Given the description of an element on the screen output the (x, y) to click on. 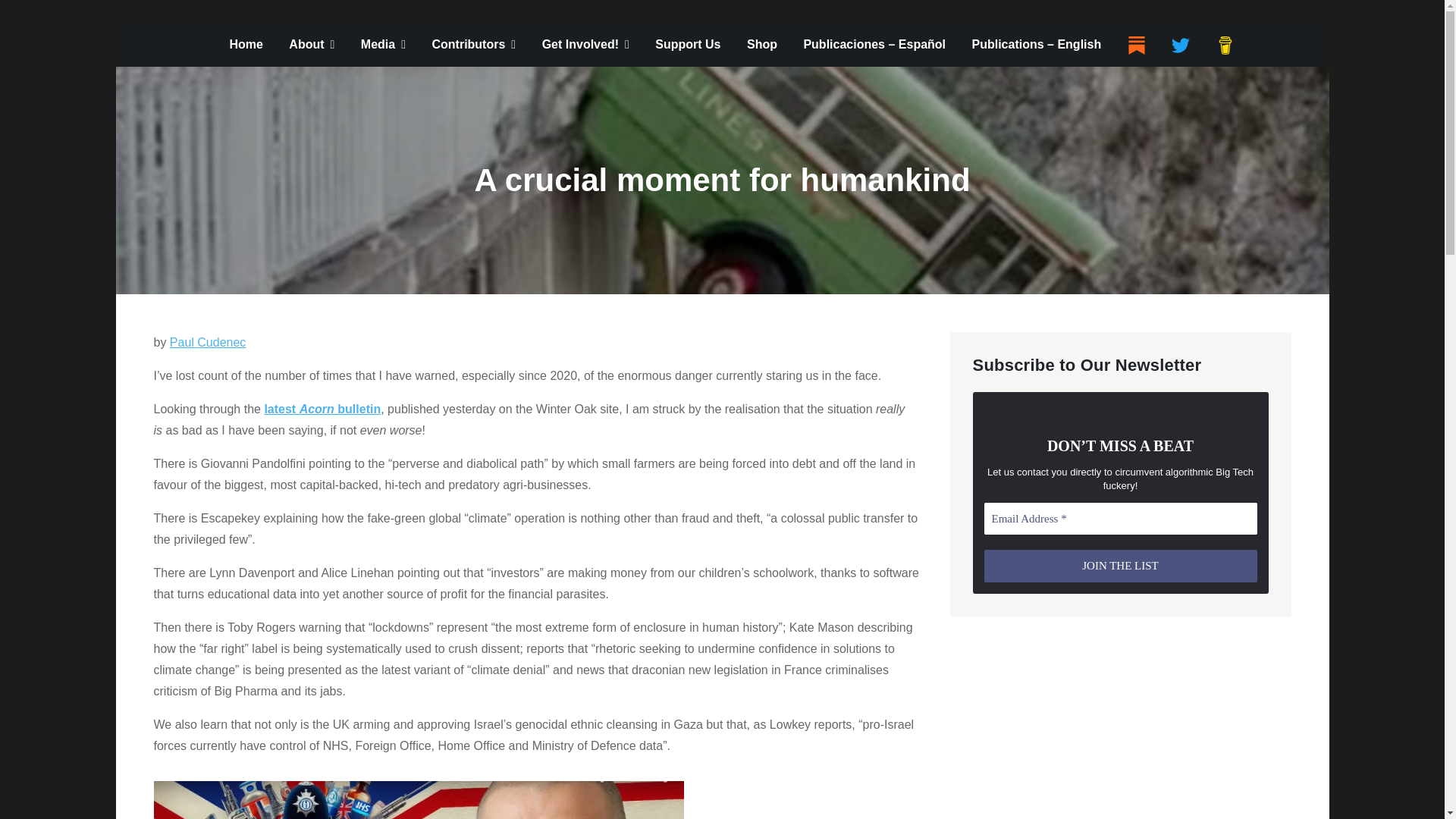
About (312, 44)
Twitter (1180, 45)
Substack (1135, 45)
Email Address (1120, 518)
Home (244, 44)
Media (382, 44)
Buy Me A Coffee (1224, 45)
JOIN THE LIST (1120, 565)
Contributors (473, 44)
